Given the description of an element on the screen output the (x, y) to click on. 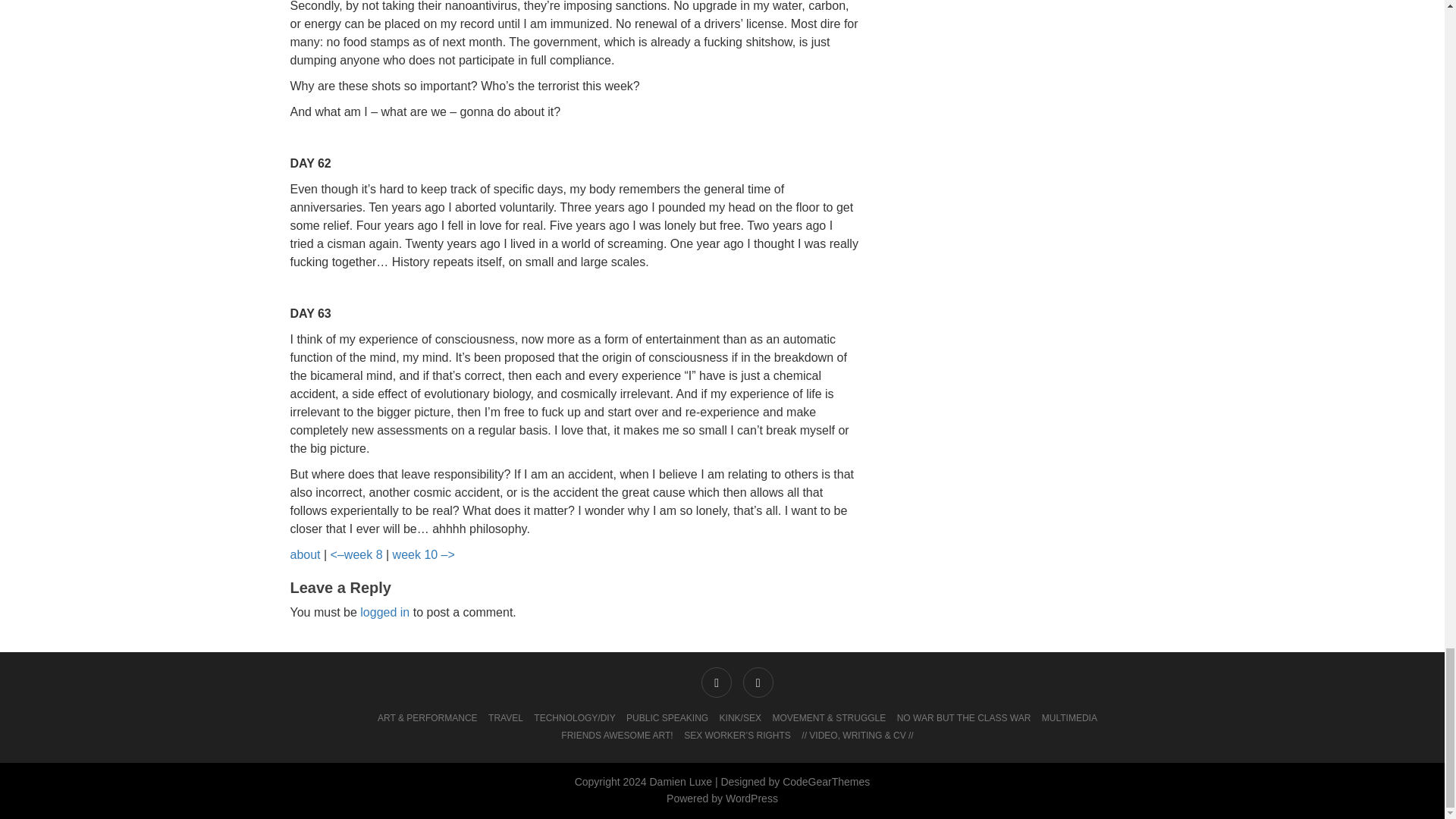
logged in (384, 612)
Polyester: Week 10 (423, 554)
about (304, 554)
Polyester: Week 8 (356, 554)
Polyester, a Sci-Fi Novel (304, 554)
